Given the description of an element on the screen output the (x, y) to click on. 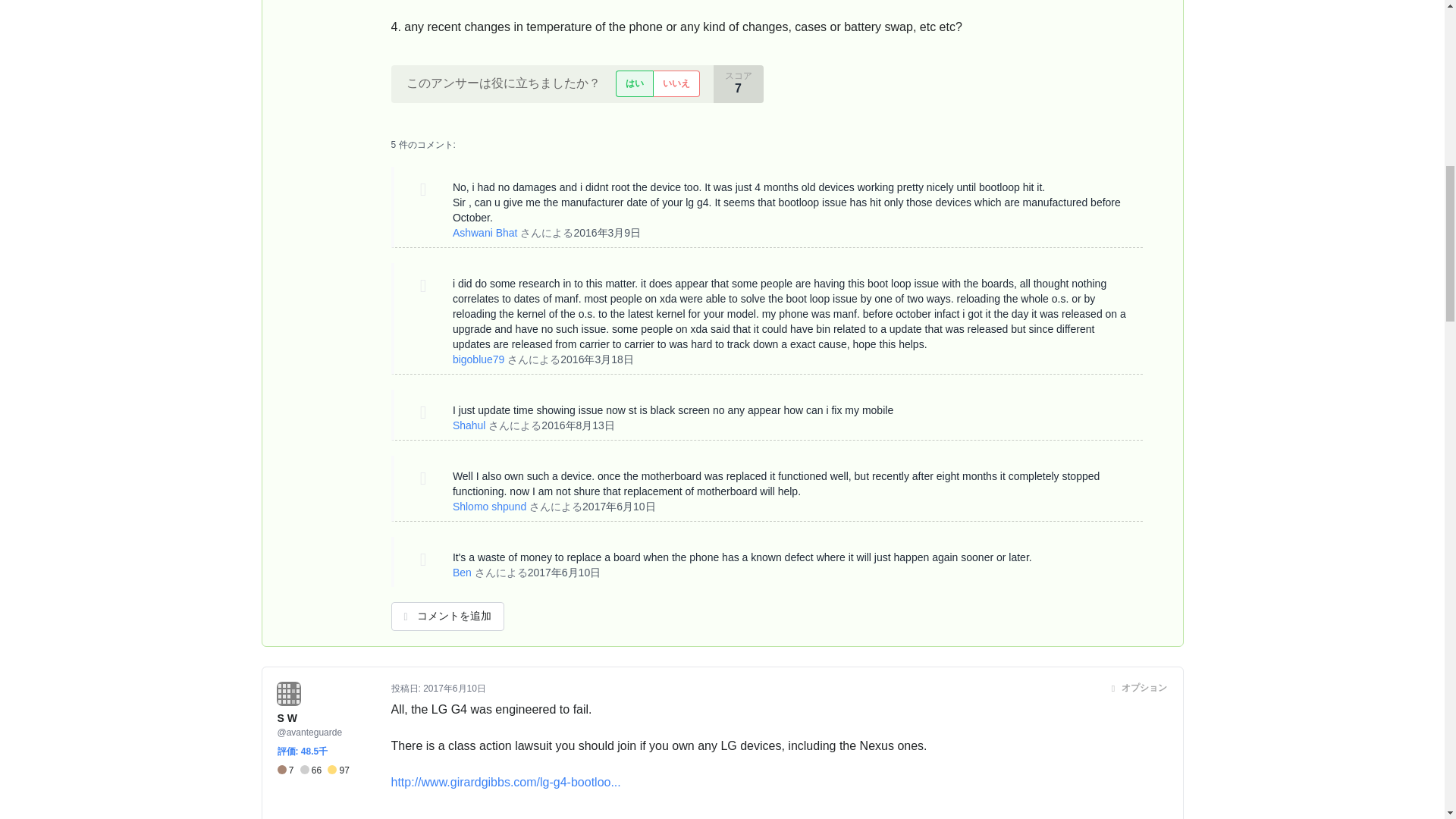
Sat, 10 Jun 2017 09:06:39 -0700 (564, 572)
Wed, 09 Mar 2016 21:43:49 -0700 (606, 232)
Sat, 13 Aug 2016 23:11:56 -0700 (577, 425)
Sat, 10 Jun 2017 08:12:51 -0700 (619, 506)
Fri, 18 Mar 2016 09:12:28 -0700 (596, 358)
